Given the description of an element on the screen output the (x, y) to click on. 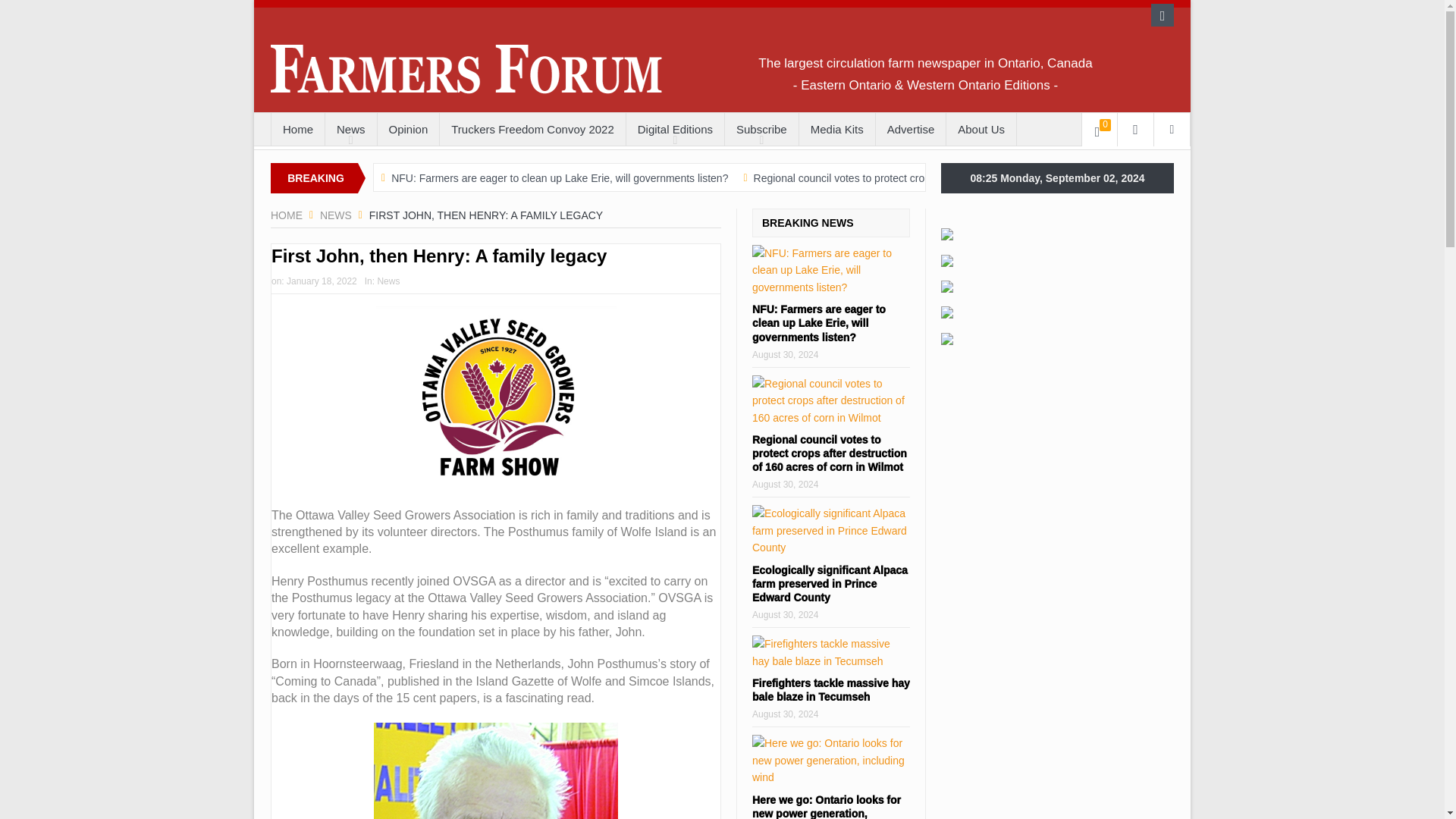
Advertise (911, 129)
Media Kits (837, 129)
Home (297, 129)
Digital Editions (674, 129)
View all posts in News (387, 281)
0 (1099, 129)
Opinion (408, 129)
Subscribe (761, 129)
